Given the description of an element on the screen output the (x, y) to click on. 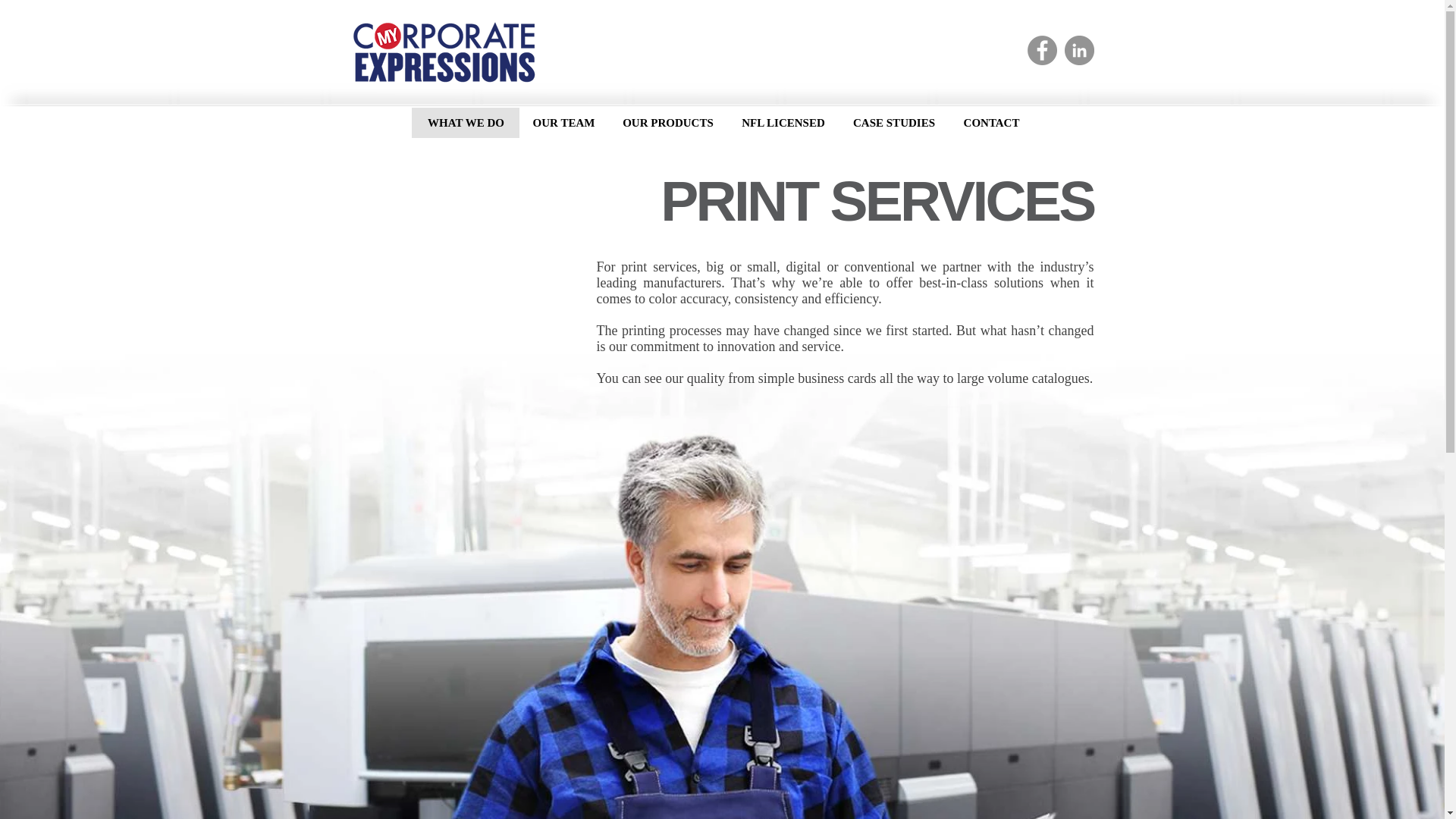
CASE STUDIES (893, 122)
CONTACT (990, 122)
WHAT WE DO (465, 122)
OUR TEAM (563, 122)
OUR PRODUCTS (667, 122)
NFL LICENSED (783, 122)
